Given the description of an element on the screen output the (x, y) to click on. 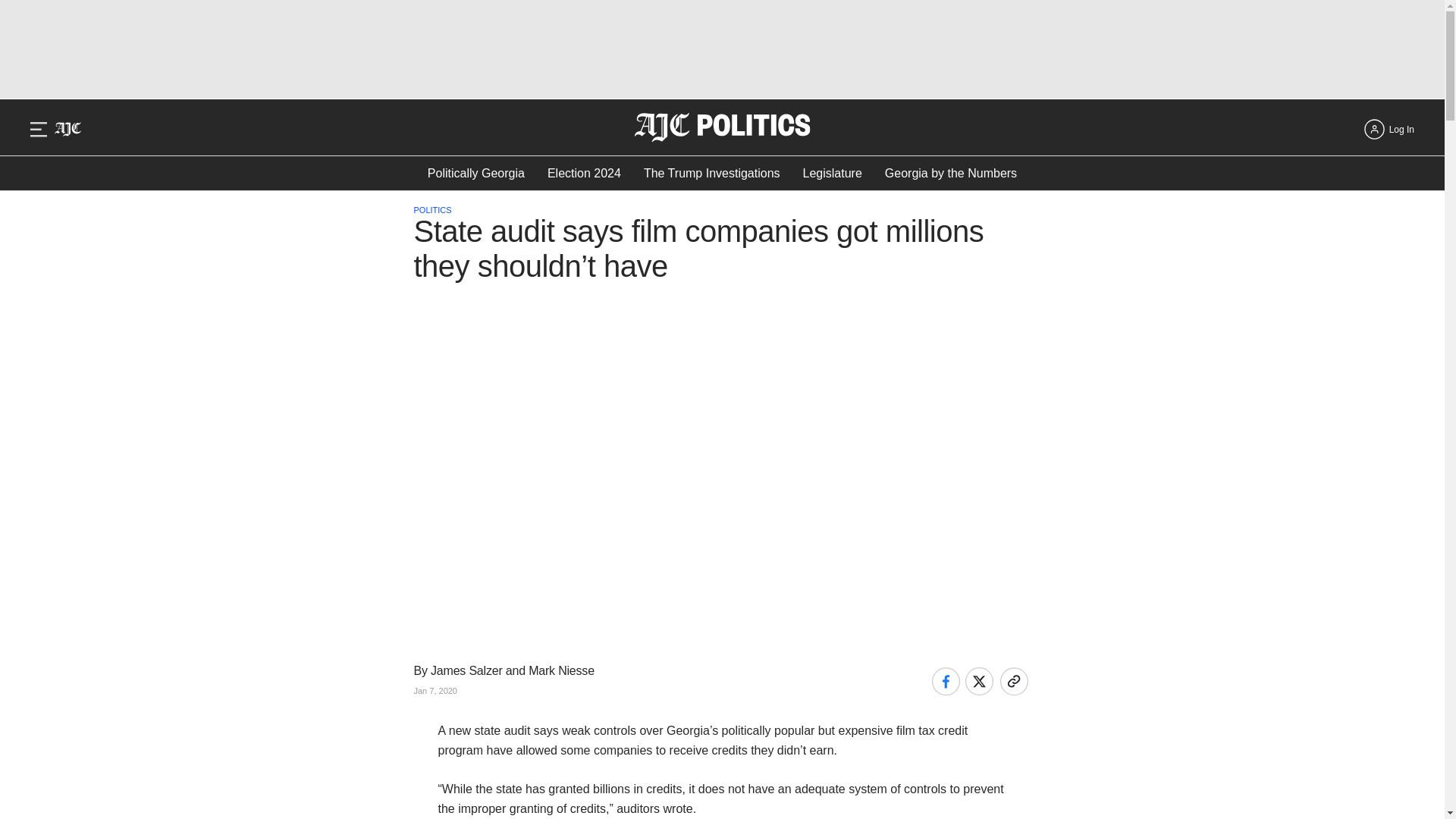
Legislature (832, 173)
The Trump Investigations (711, 173)
Election 2024 (584, 173)
Georgia by the Numbers (950, 173)
Politically Georgia (476, 173)
